Given the description of an element on the screen output the (x, y) to click on. 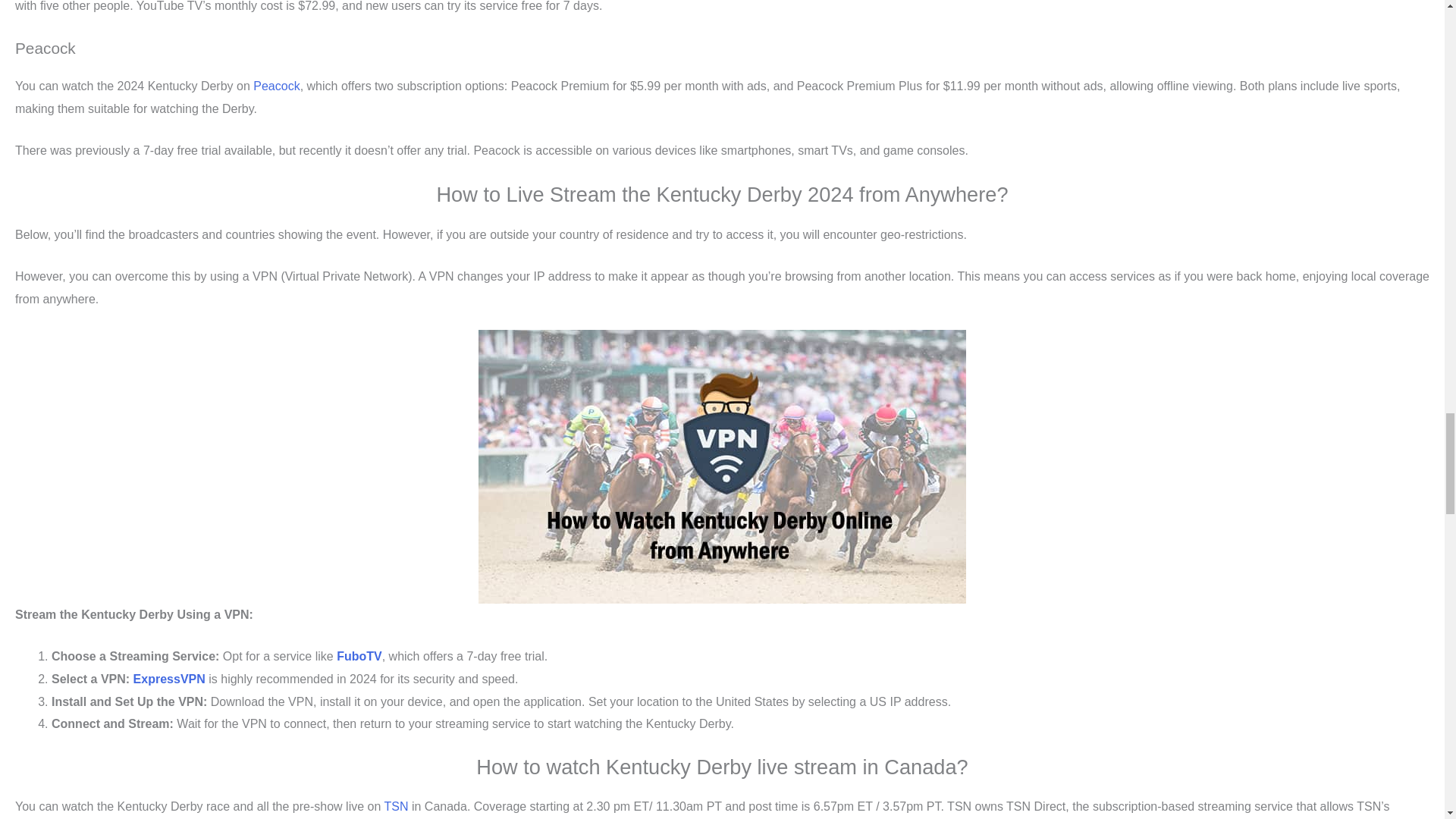
Peacock (276, 85)
TSN (396, 806)
FuboTV (358, 656)
ExpressVPN (169, 678)
